Given the description of an element on the screen output the (x, y) to click on. 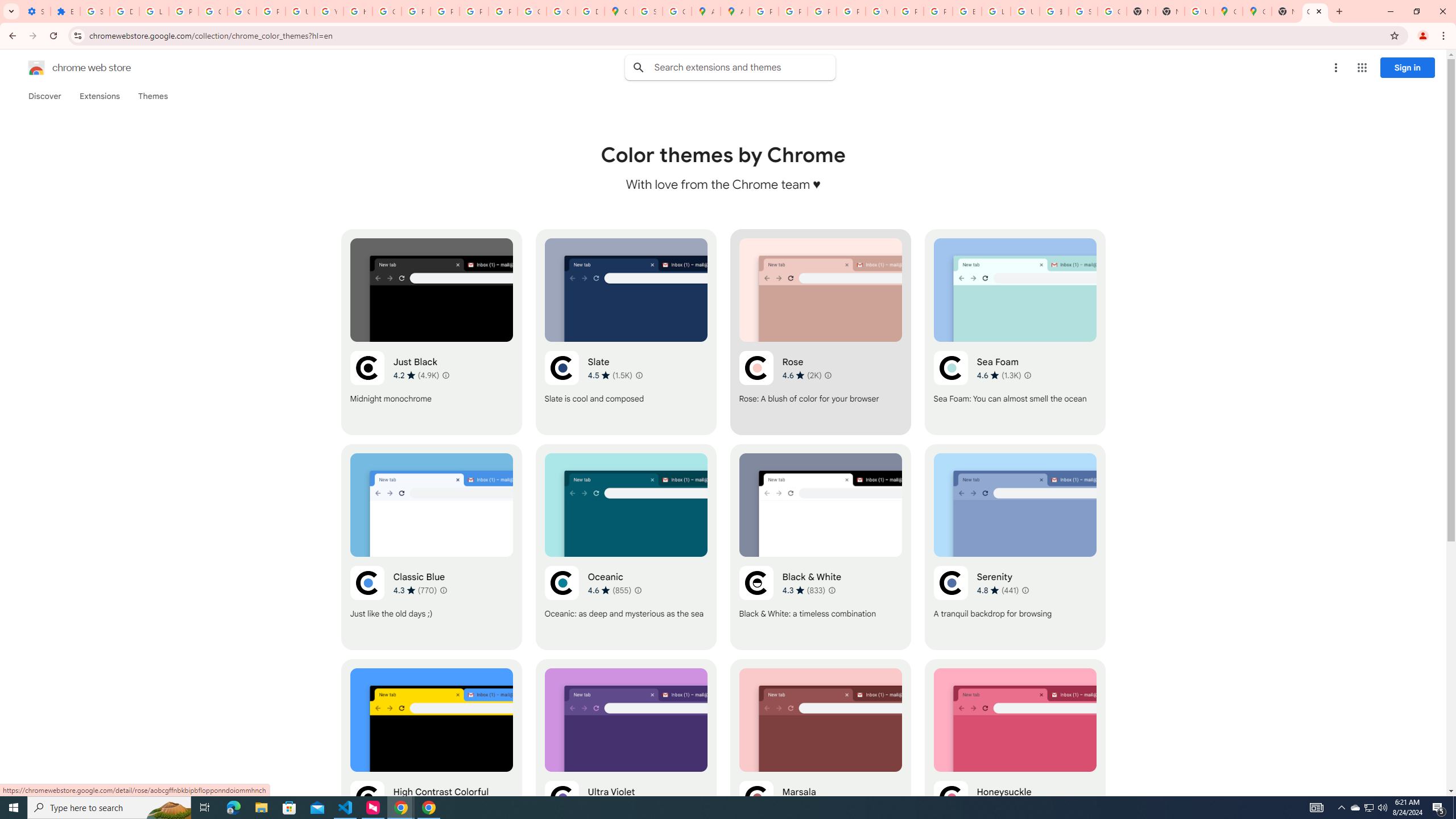
Settings - On startup (35, 11)
New Tab (1286, 11)
Sign in - Google Accounts (648, 11)
Classic Blue (431, 546)
Average rating 4.3 out of 5 stars. 770 ratings. (414, 590)
Privacy Help Center - Policies Help (792, 11)
